Given the description of an element on the screen output the (x, y) to click on. 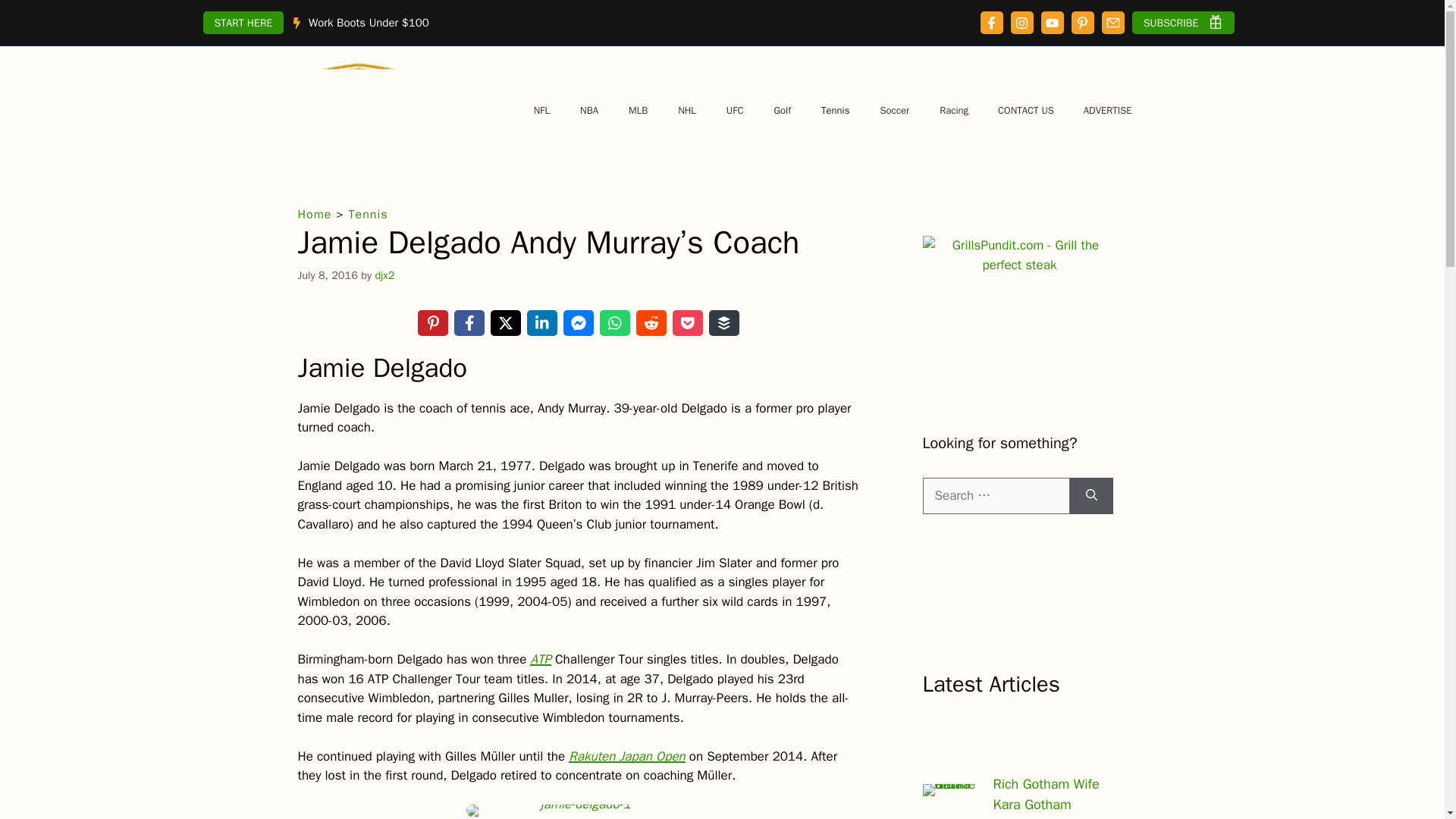
CONTACT US (1025, 110)
UFC (734, 110)
djx2 (384, 274)
Soccer (894, 110)
START HERE (243, 22)
MLB (637, 110)
NFL (541, 110)
Jamie-Delgado-1 (579, 810)
SUBSCRIBE (1183, 22)
Home (314, 214)
NBA (588, 110)
Tennis (835, 110)
Racing (954, 110)
ADVERTISE (1107, 110)
Search for: (994, 495)
